Given the description of an element on the screen output the (x, y) to click on. 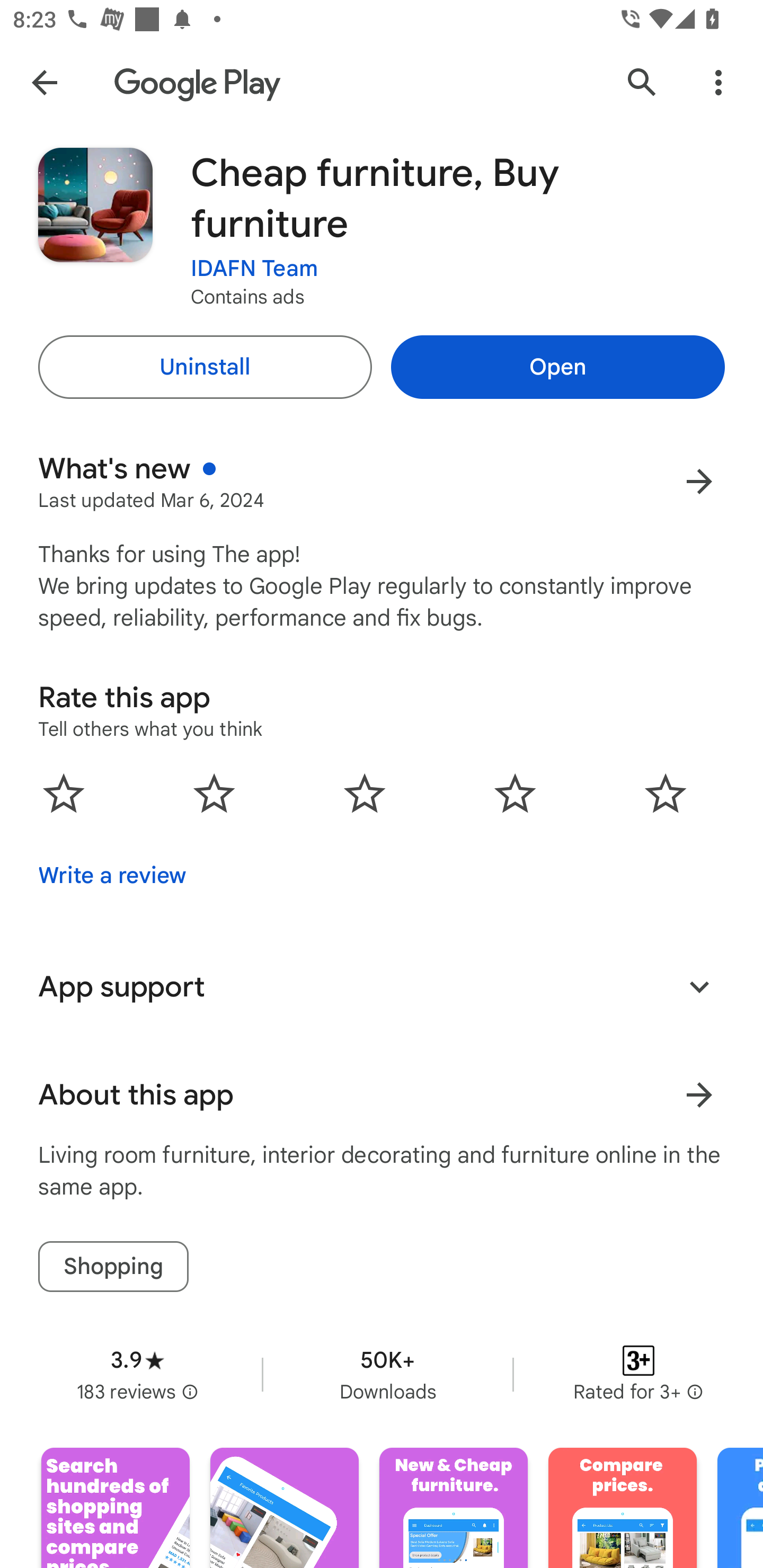
Navigate up (44, 81)
Search Google Play (642, 81)
More Options (718, 81)
IDAFN Team (254, 268)
Uninstall (205, 366)
Open (557, 366)
More results for What's new (699, 481)
0.0 (364, 792)
Write a review (112, 875)
App support Expand (381, 986)
Expand (699, 986)
About this app Learn more About this app (381, 1094)
Learn more About this app (699, 1094)
Shopping tag (113, 1265)
Average rating 3.9 stars in 183 reviews (137, 1374)
Content rating Rated for 3+ (638, 1374)
Screenshot "1" of "7" (115, 1507)
Screenshot "2" of "7" (284, 1507)
Screenshot "3" of "7" (453, 1507)
Screenshot "4" of "7" (622, 1507)
